Given the description of an element on the screen output the (x, y) to click on. 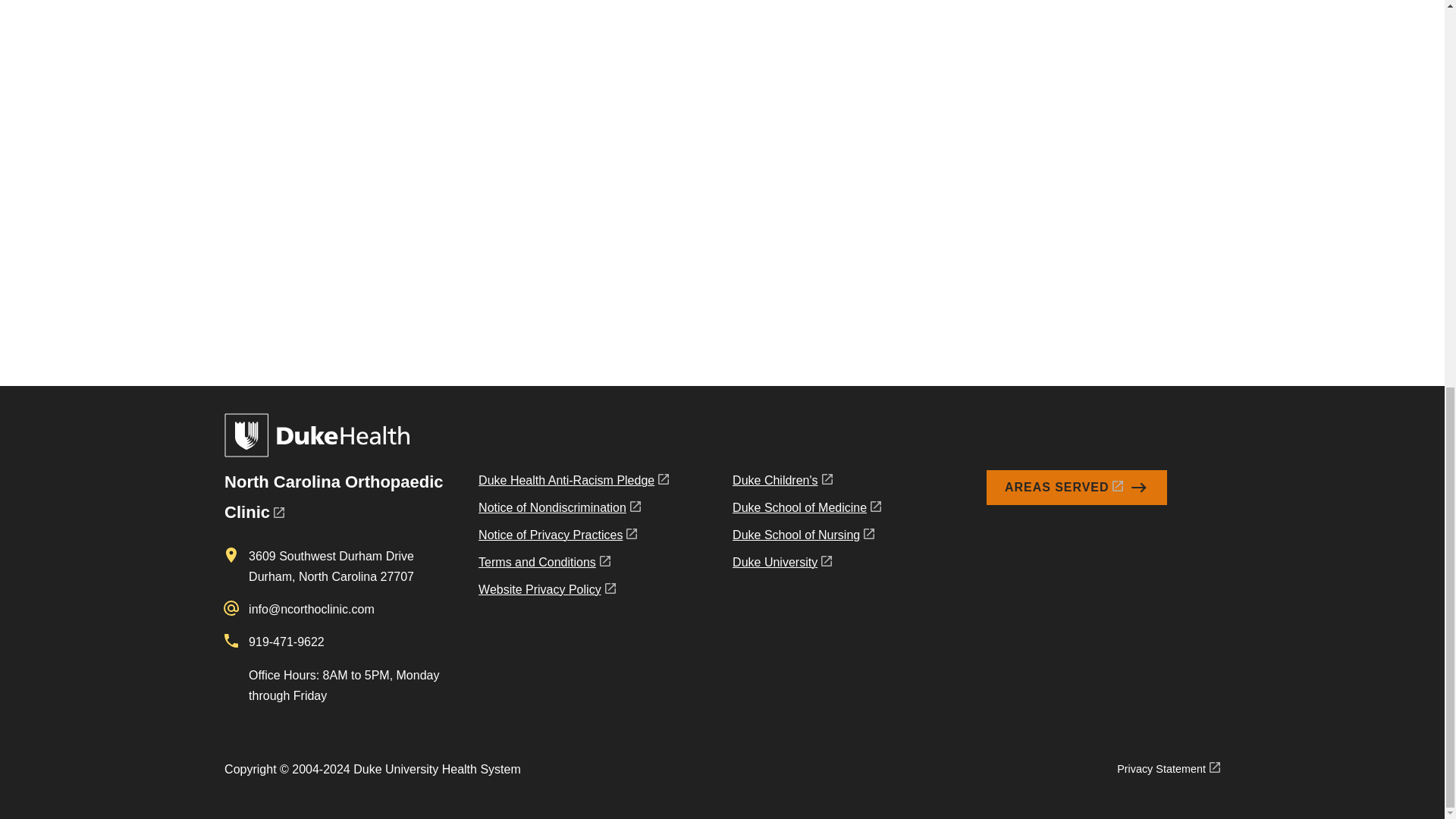
Notice of Privacy Practices (573, 538)
Duke University (806, 565)
919-471-9622 (286, 641)
Terms and Conditions (573, 565)
AREAS SERVED (1077, 487)
Notice of Nondiscrimination (573, 510)
North Carolina Orthopaedic Clinic (333, 496)
Website Privacy Policy (573, 592)
Duke Children's (806, 483)
